Given the description of an element on the screen output the (x, y) to click on. 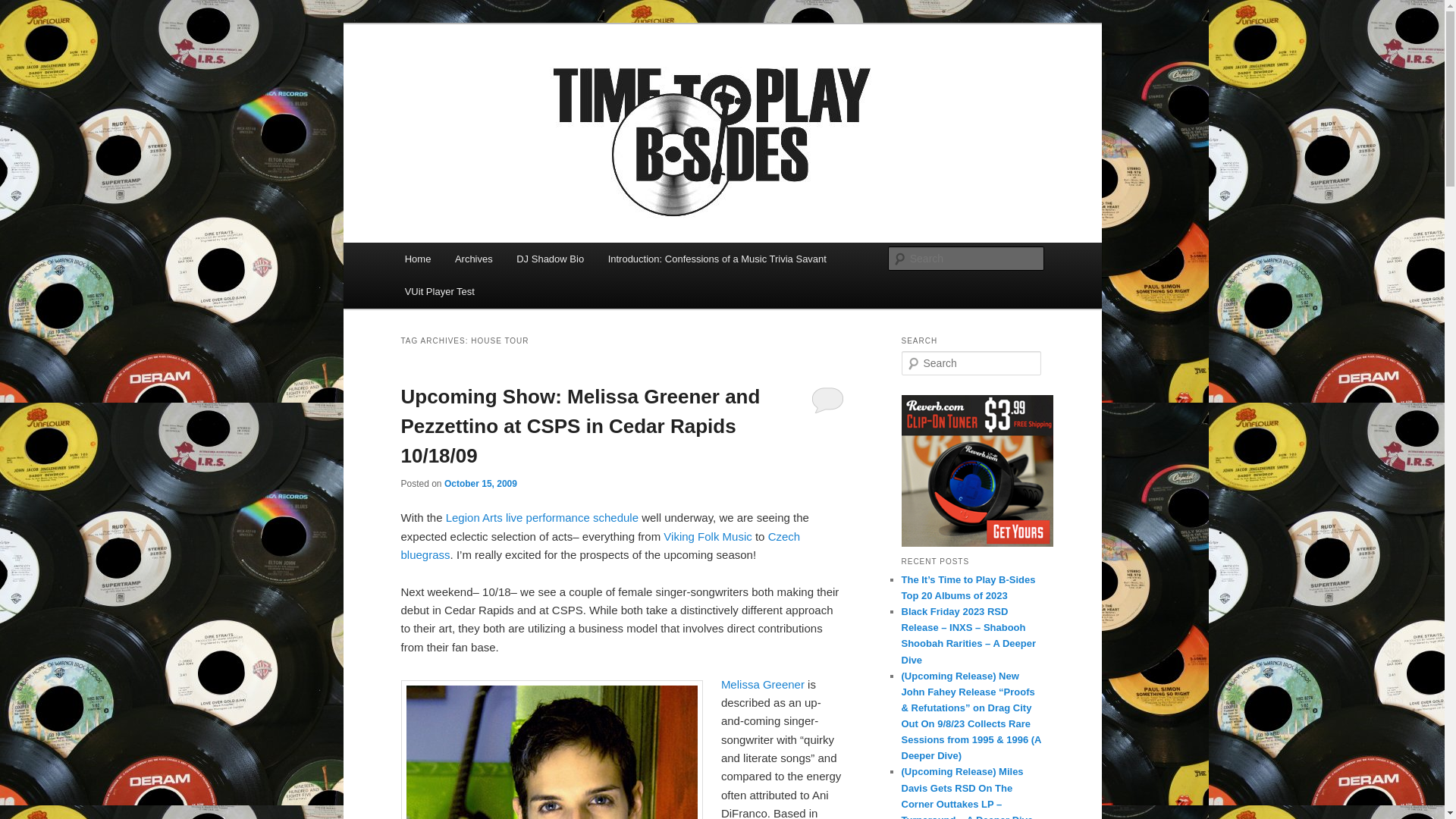
October 15, 2009 (480, 483)
Archives (472, 258)
Czech bluegrass (599, 545)
Viking Folk Music (707, 535)
Introduction: Confessions of a Music Trivia Savant (716, 258)
Search (24, 8)
Melissa Greener (762, 684)
DJ Shadow Bio (549, 258)
VUit Player Test (439, 291)
Legion Arts live performance schedule (542, 517)
Home (417, 258)
Time to play b-sides (509, 78)
8:39 am (480, 483)
